Given the description of an element on the screen output the (x, y) to click on. 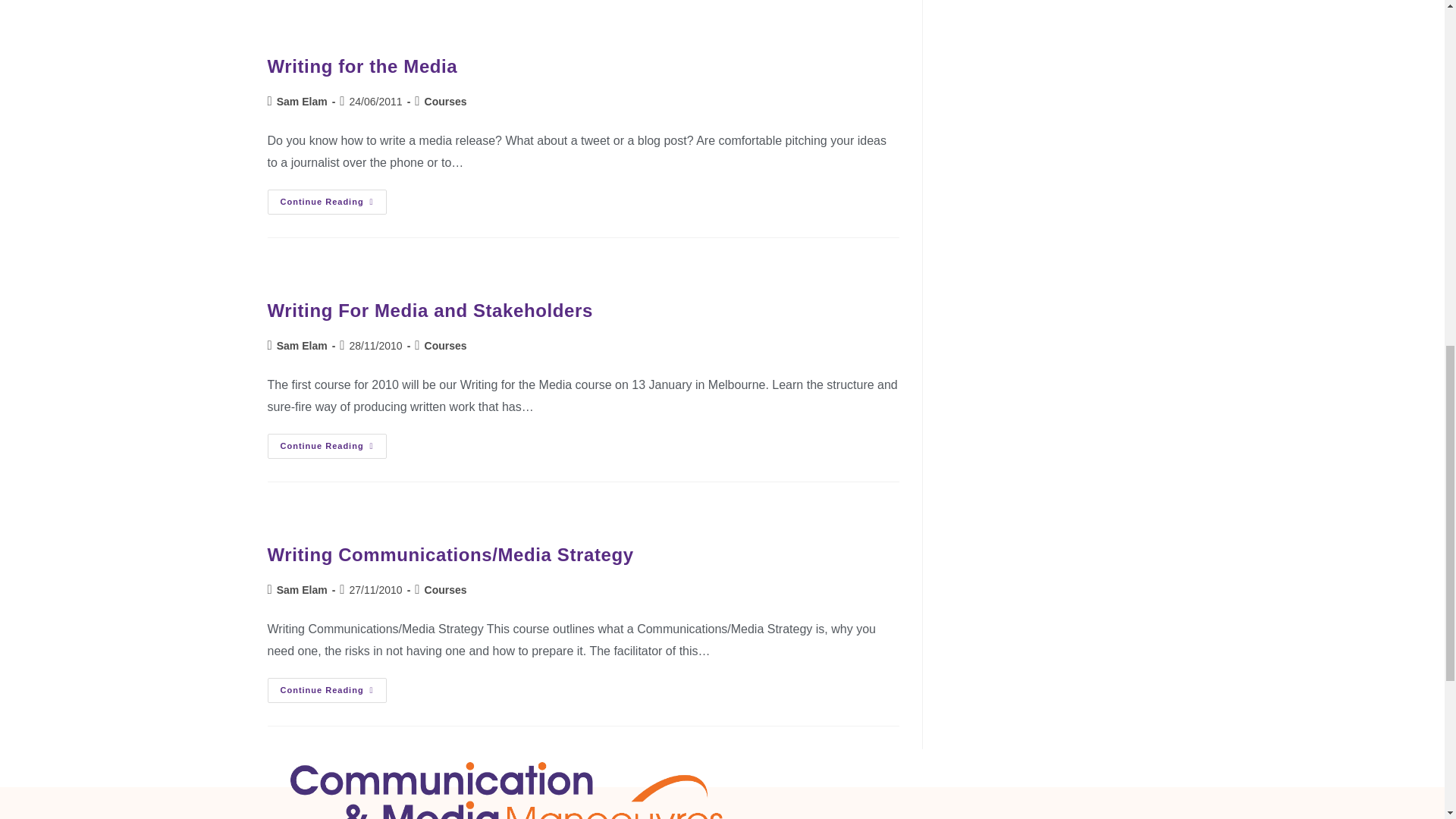
Posts by Sam Elam (301, 589)
Posts by Sam Elam (301, 101)
Posts by Sam Elam (301, 345)
